Given the description of an element on the screen output the (x, y) to click on. 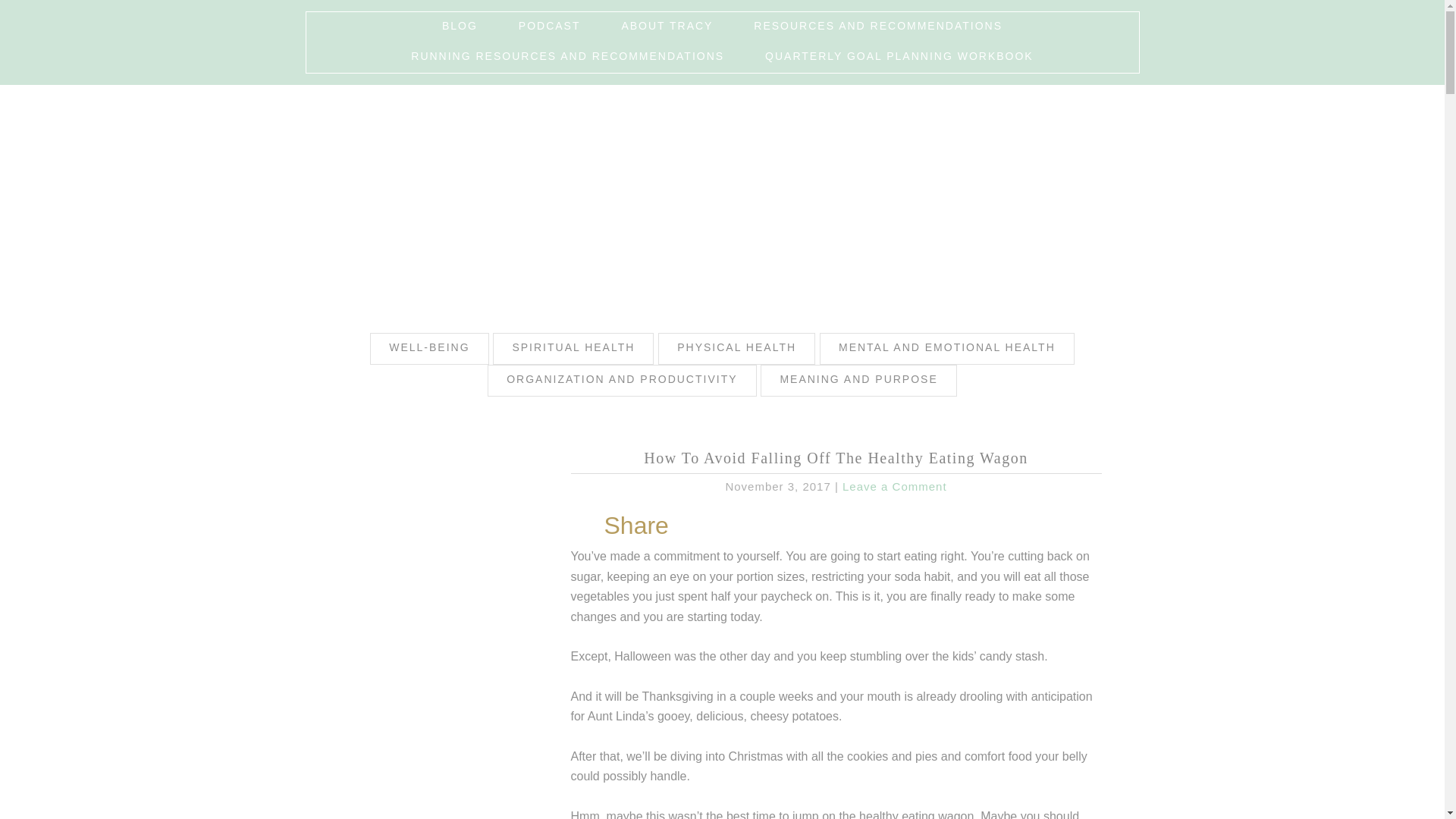
Leave a Comment (895, 486)
MENTAL AND EMOTIONAL HEALTH (946, 348)
WELL-BEING (428, 348)
PODCAST (549, 27)
QUARTERLY GOAL PLANNING WORKBOOK (898, 57)
Share (635, 525)
BLOG (459, 27)
PHYSICAL HEALTH (736, 348)
ORGANIZATION AND PRODUCTIVITY (621, 380)
ABOUT TRACY (666, 27)
MEANING AND PURPOSE (858, 380)
RUNNING RESOURCES AND RECOMMENDATIONS (567, 57)
RESOURCES AND RECOMMENDATIONS (877, 27)
SPIRITUAL HEALTH (573, 348)
